Given the description of an element on the screen output the (x, y) to click on. 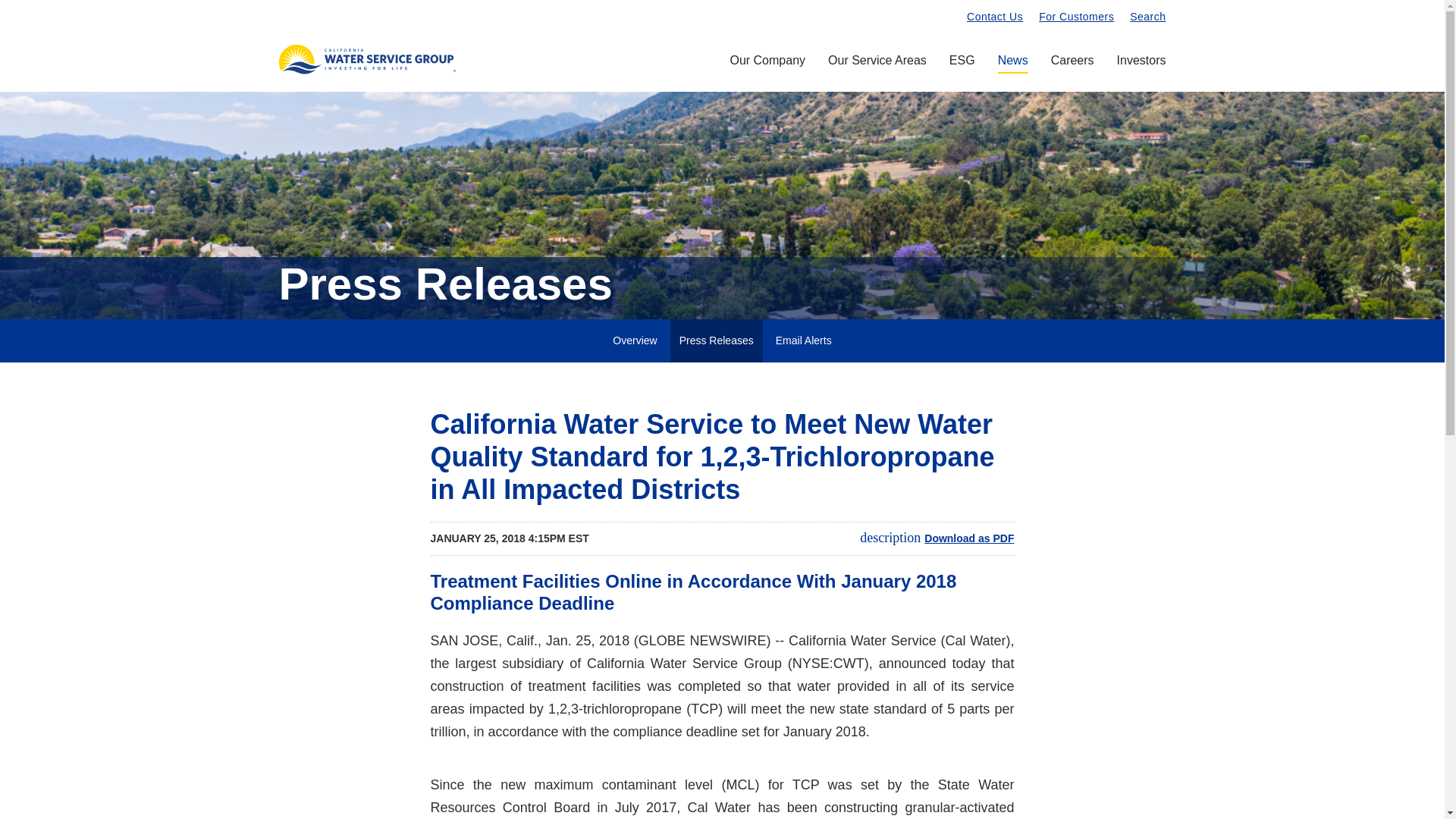
Search (1147, 15)
News (1013, 71)
Contact Us (994, 15)
Careers (1072, 71)
Investors (1135, 71)
Our Company (766, 71)
Our Service Areas (876, 71)
ESG (962, 71)
For Customers (1076, 15)
